Given the description of an element on the screen output the (x, y) to click on. 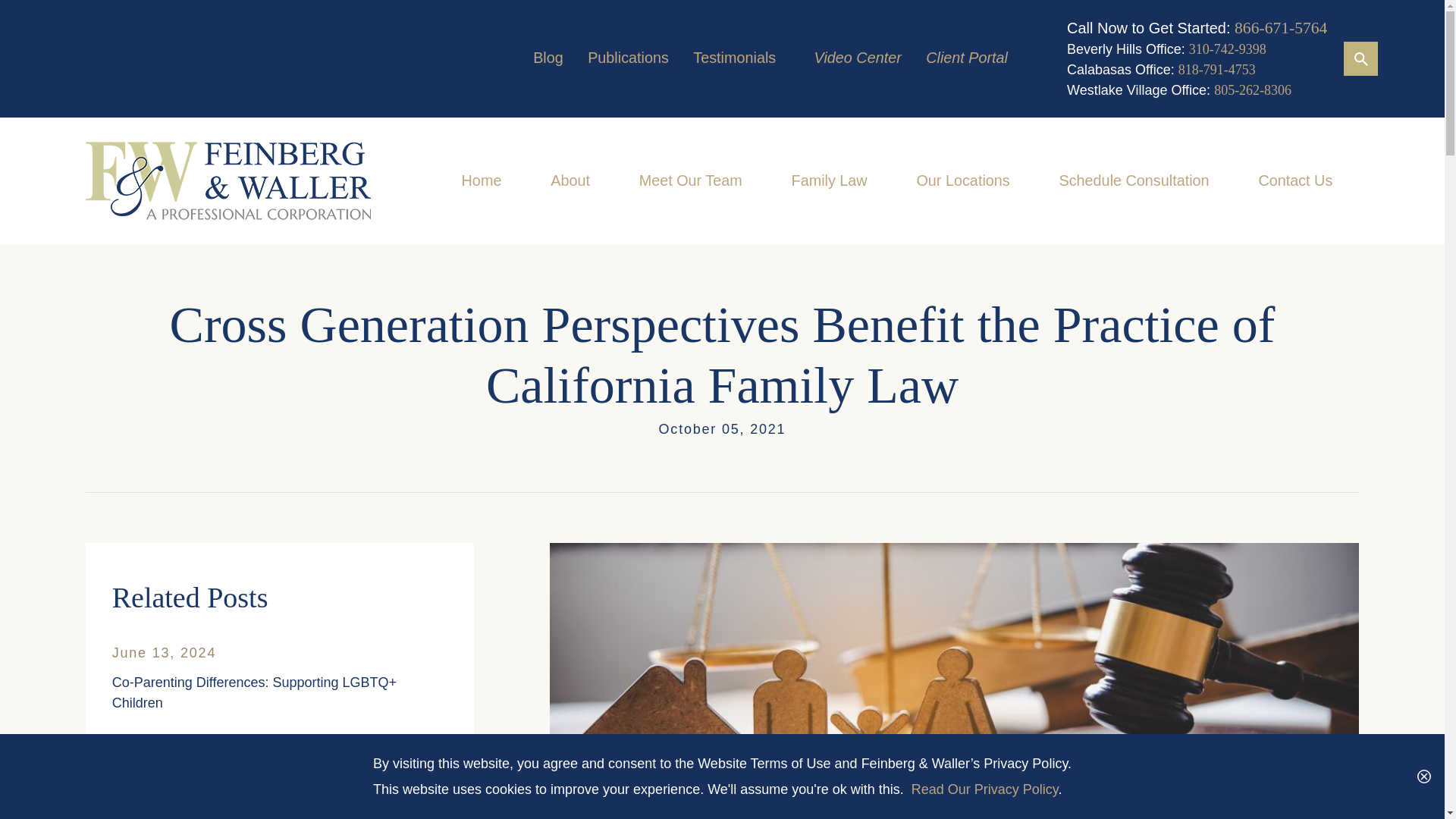
805-262-8306 (1252, 89)
Search Our Site (1360, 58)
Search Icon (1361, 58)
818-791-4753 (1216, 69)
Family Law (829, 181)
Blog (547, 57)
310-742-9398 (1227, 48)
Client Portal (966, 57)
Testimonials (734, 57)
Meet Our Team (690, 181)
